Given the description of an element on the screen output the (x, y) to click on. 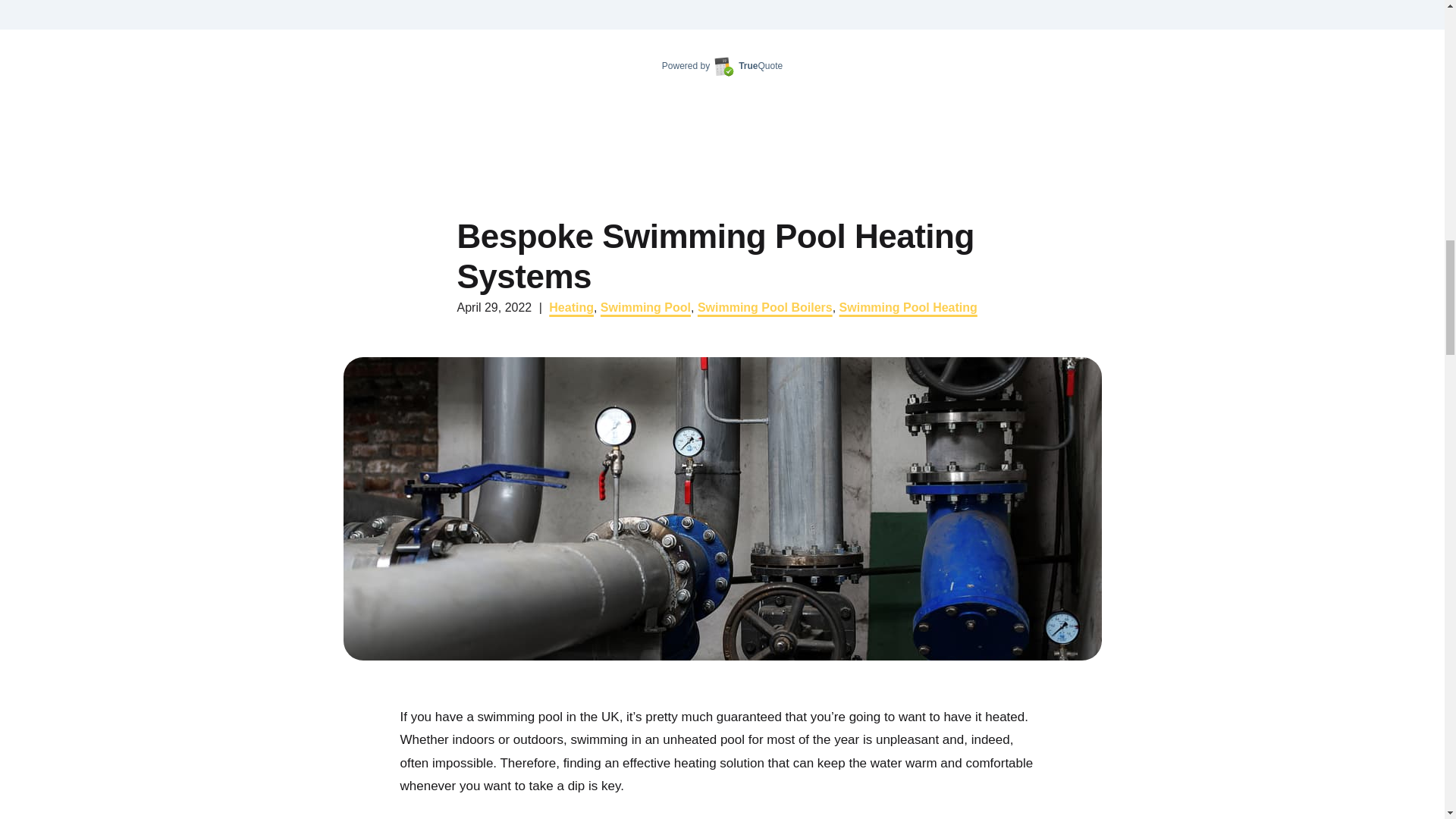
Call us (1076, 147)
